Given the description of an element on the screen output the (x, y) to click on. 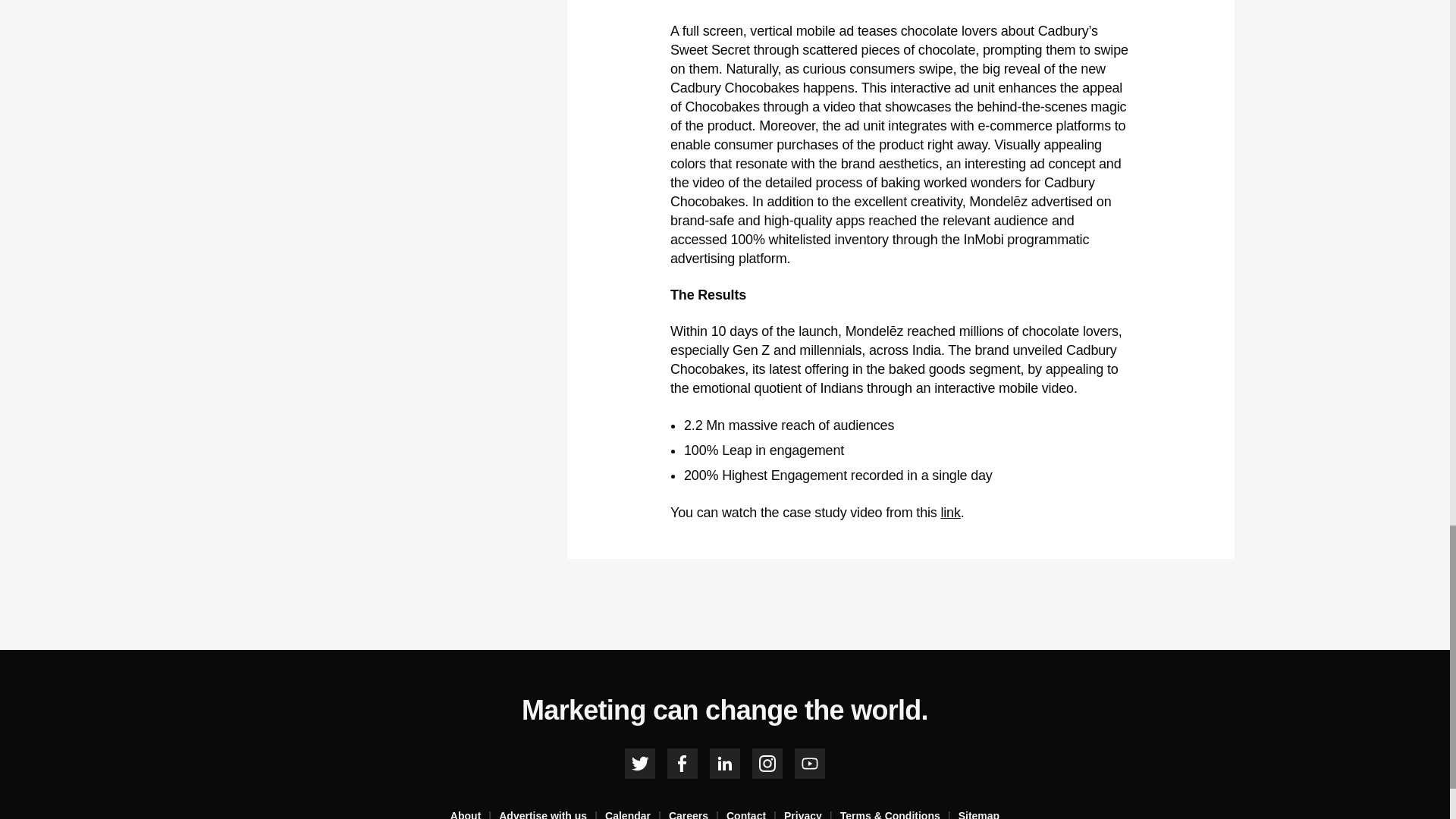
link (949, 512)
Privacy (812, 813)
Contact (755, 813)
Advertise with us (552, 813)
Calendar (636, 813)
About (474, 813)
Careers (697, 813)
